Given the description of an element on the screen output the (x, y) to click on. 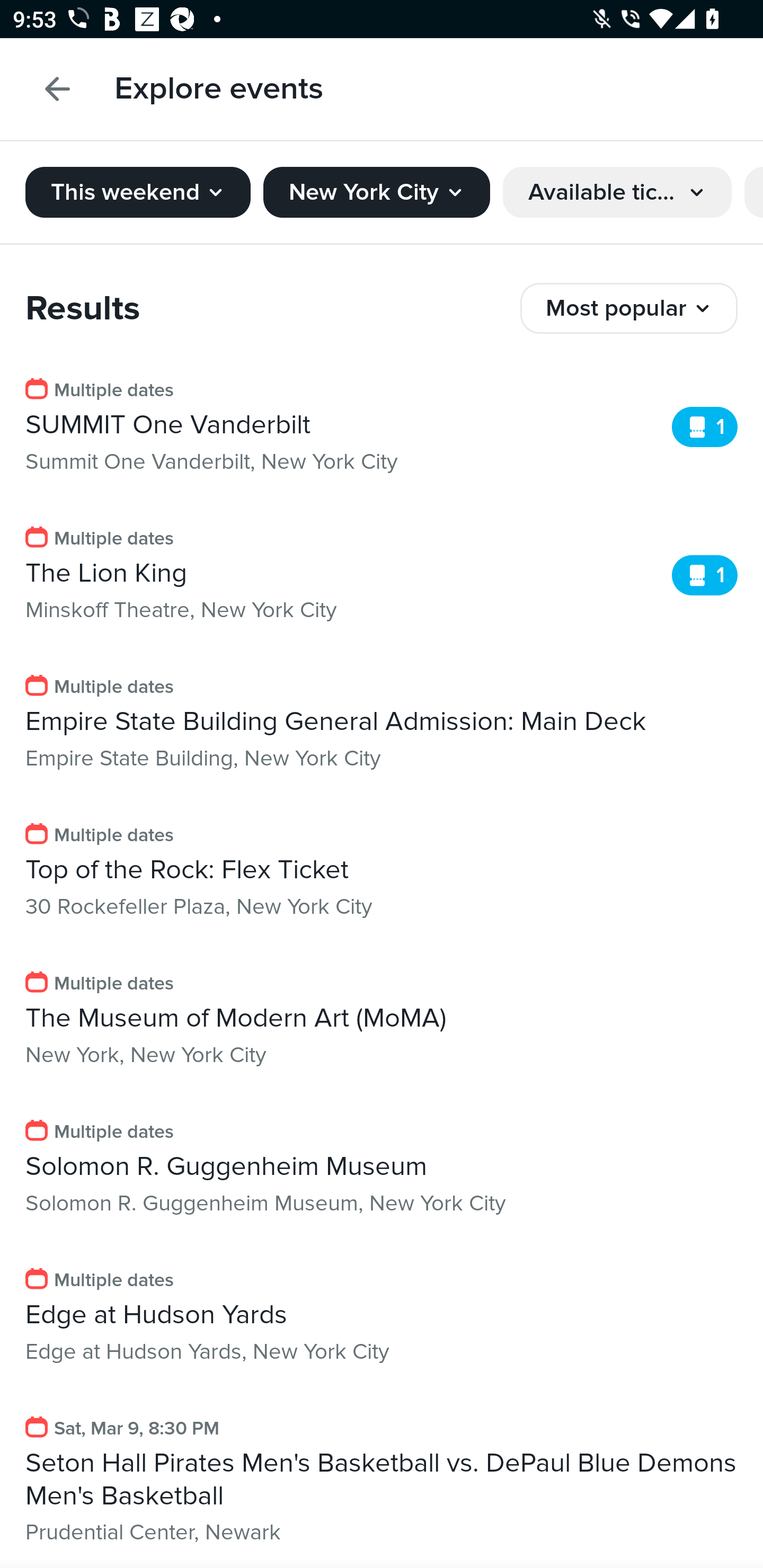
This weekend (137, 191)
New York City (376, 191)
Available tickets (616, 191)
Most popular (628, 307)
